Given the description of an element on the screen output the (x, y) to click on. 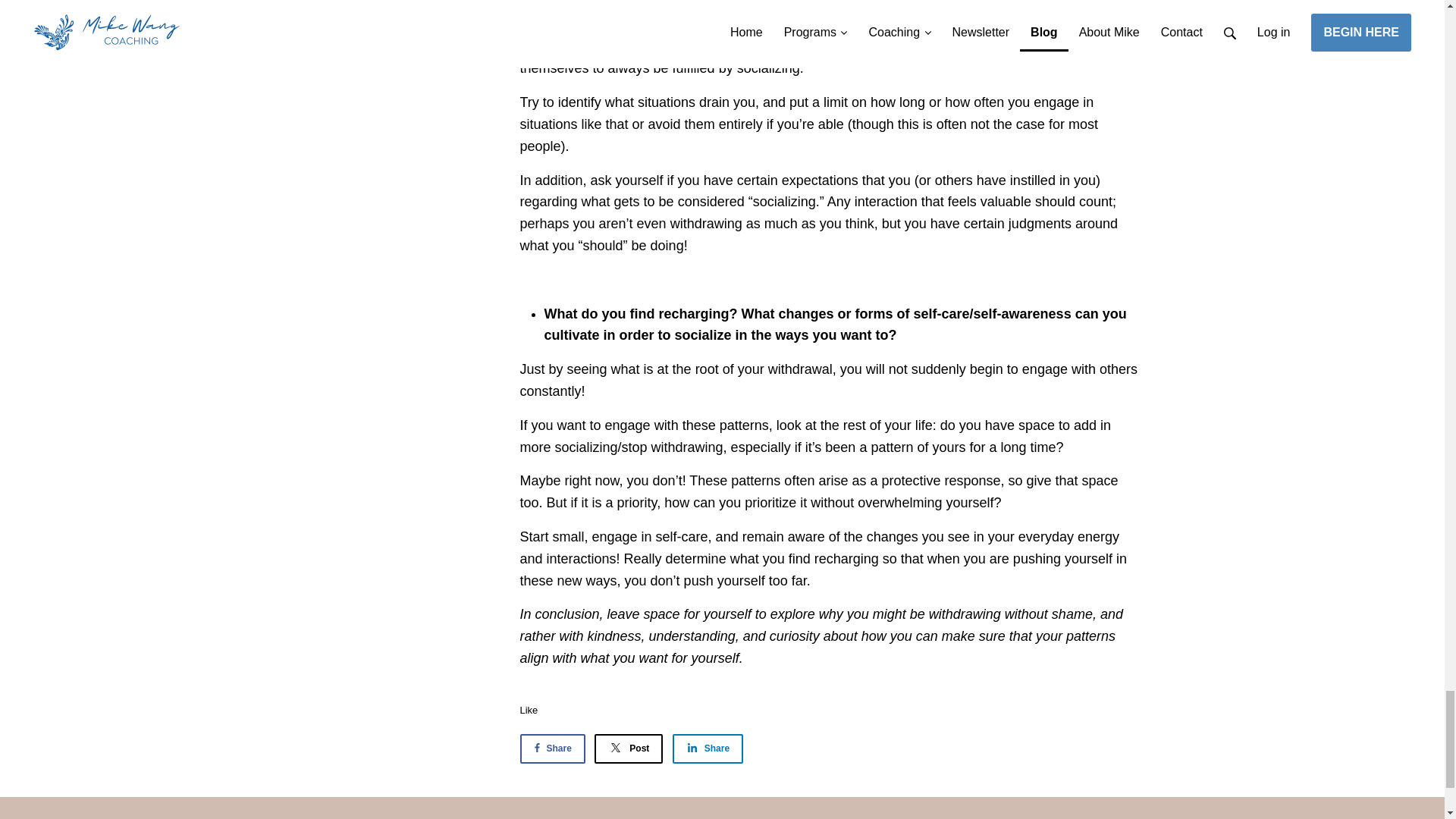
Share on LinkedIn (707, 748)
Post (628, 748)
Share (707, 748)
Like (528, 709)
Post on X (628, 748)
Share (552, 748)
Share on Facebook (552, 748)
